Given the description of an element on the screen output the (x, y) to click on. 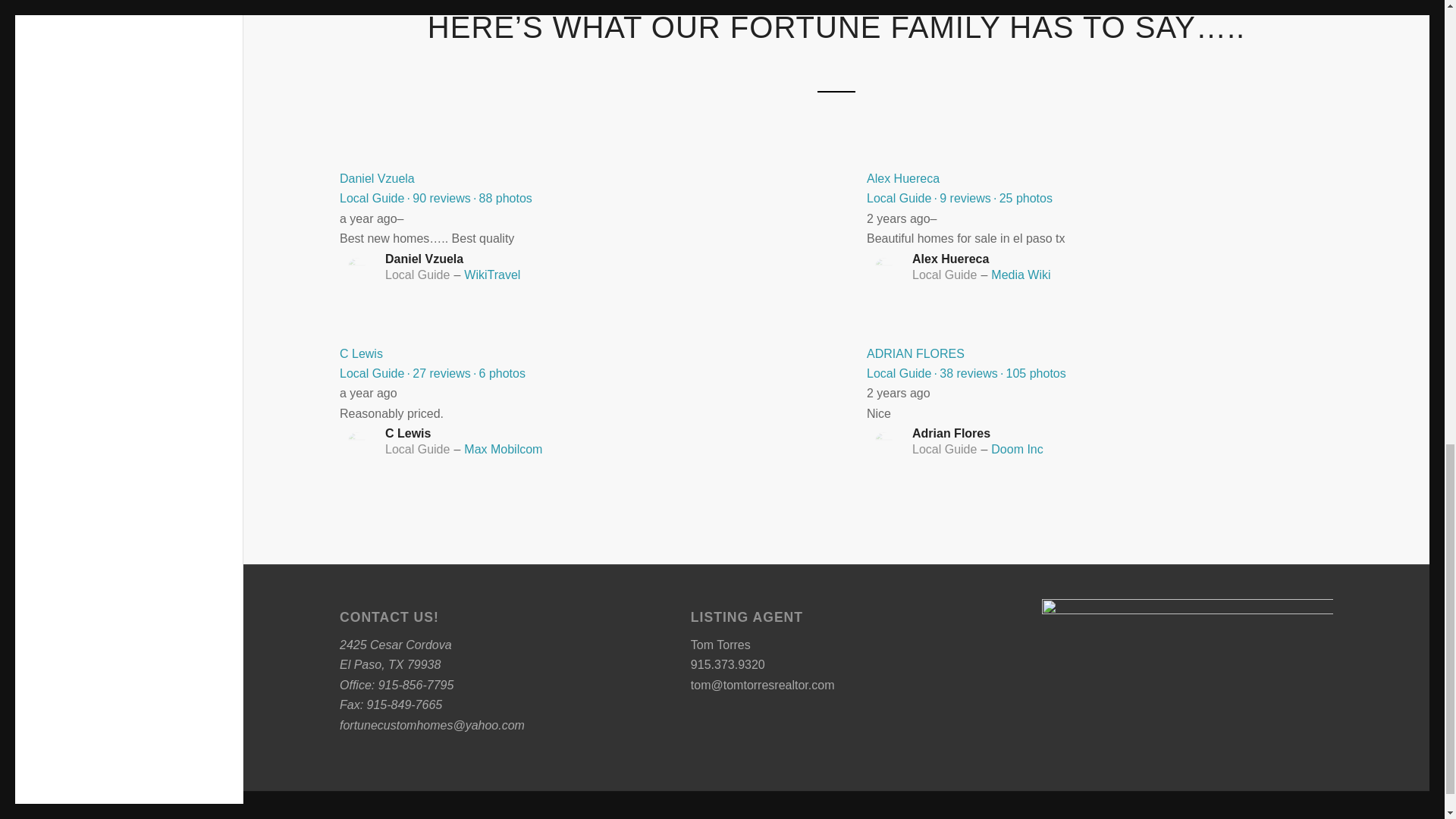
Max Mobilcom (502, 449)
Media Wiki (1020, 274)
Alex Huereca (902, 178)
Daniel Vzuela (376, 178)
C Lewis (360, 353)
ADRIAN FLORES (914, 353)
WikiTravel (491, 274)
